Given the description of an element on the screen output the (x, y) to click on. 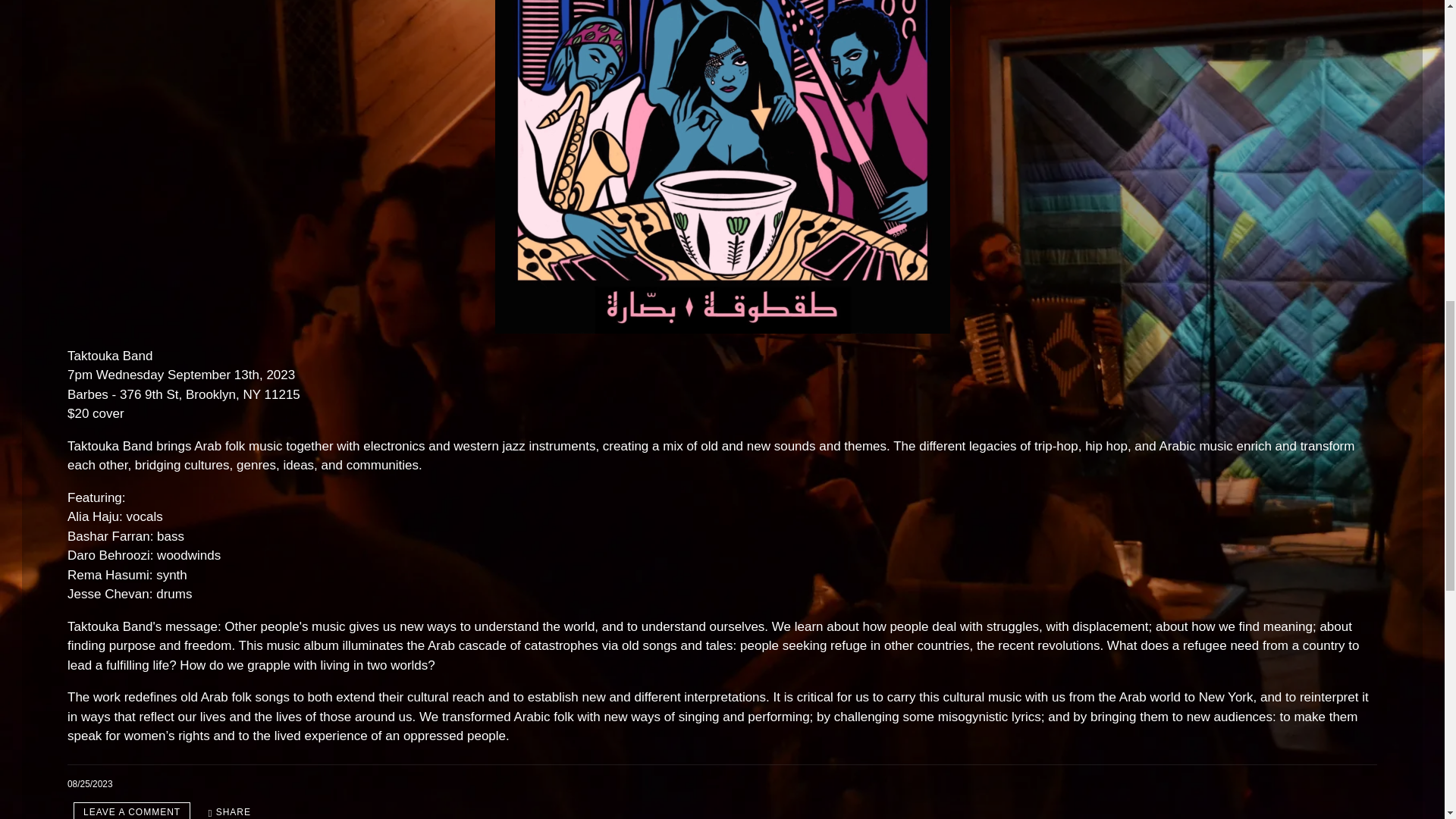
Leave a comment (132, 810)
LEAVE A COMMENT (132, 810)
SHARE (229, 811)
Share Taktouka Band at Barbes (229, 811)
August 25, 2023 11:35 (89, 783)
